Given the description of an element on the screen output the (x, y) to click on. 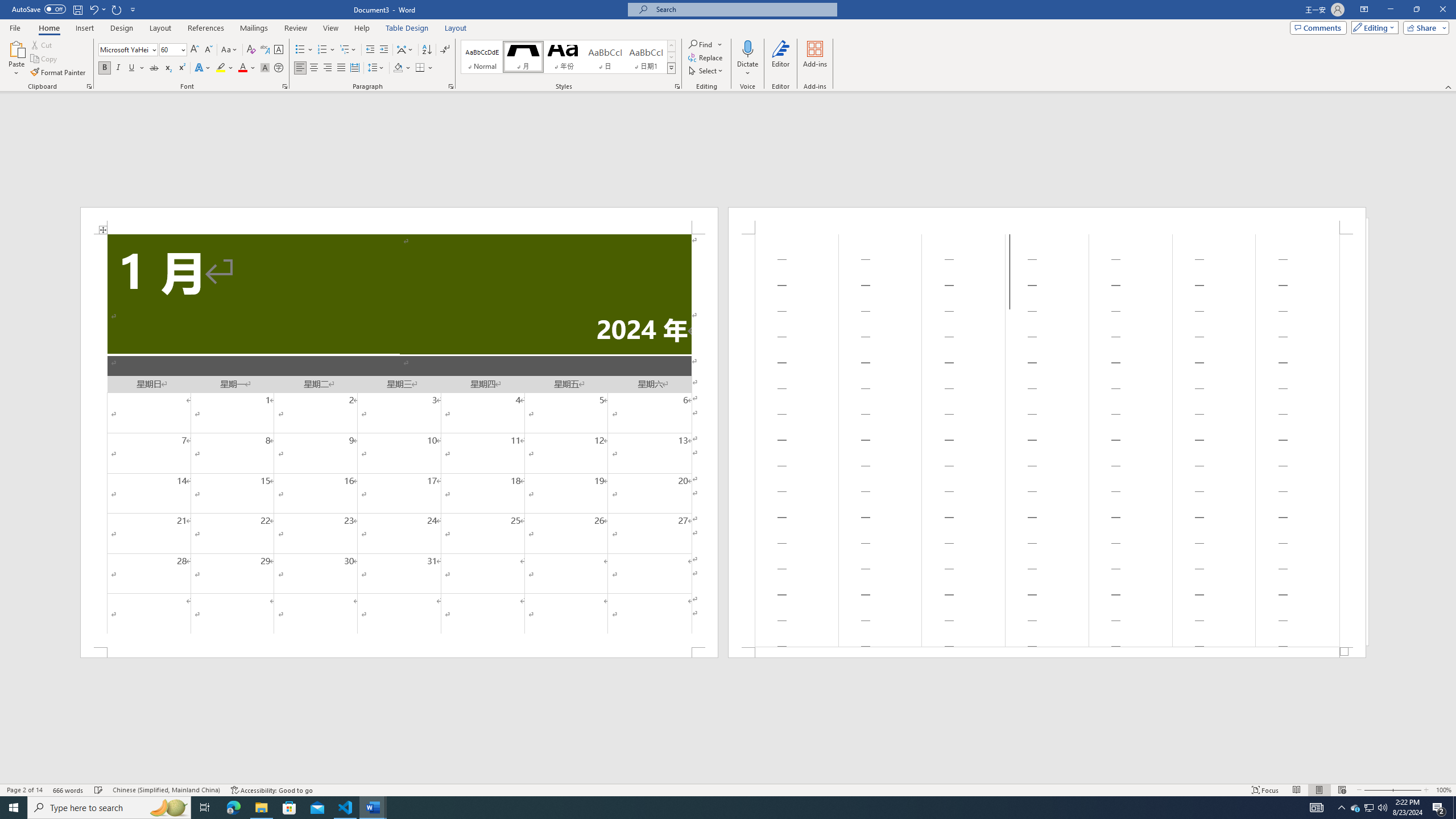
Page 1 content (398, 440)
